Given the description of an element on the screen output the (x, y) to click on. 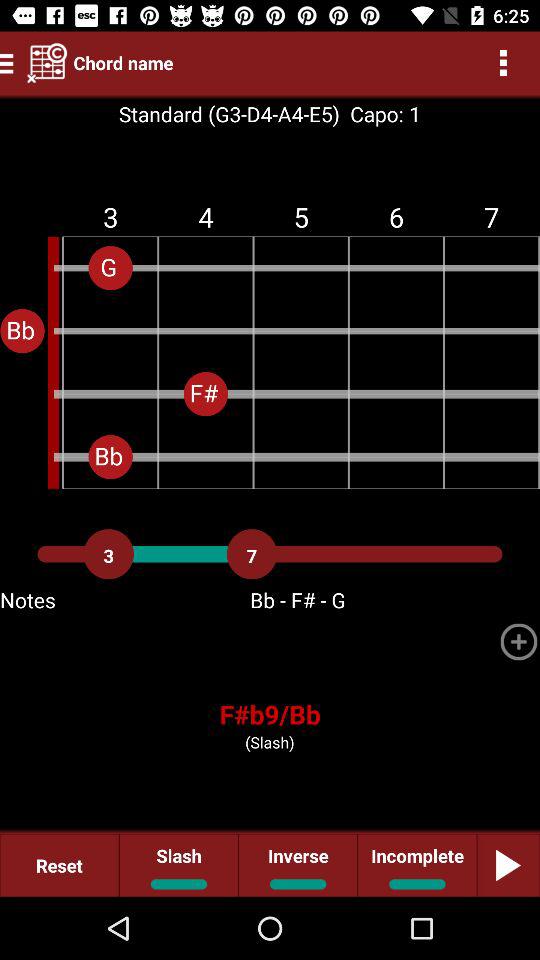
add note (519, 642)
